Given the description of an element on the screen output the (x, y) to click on. 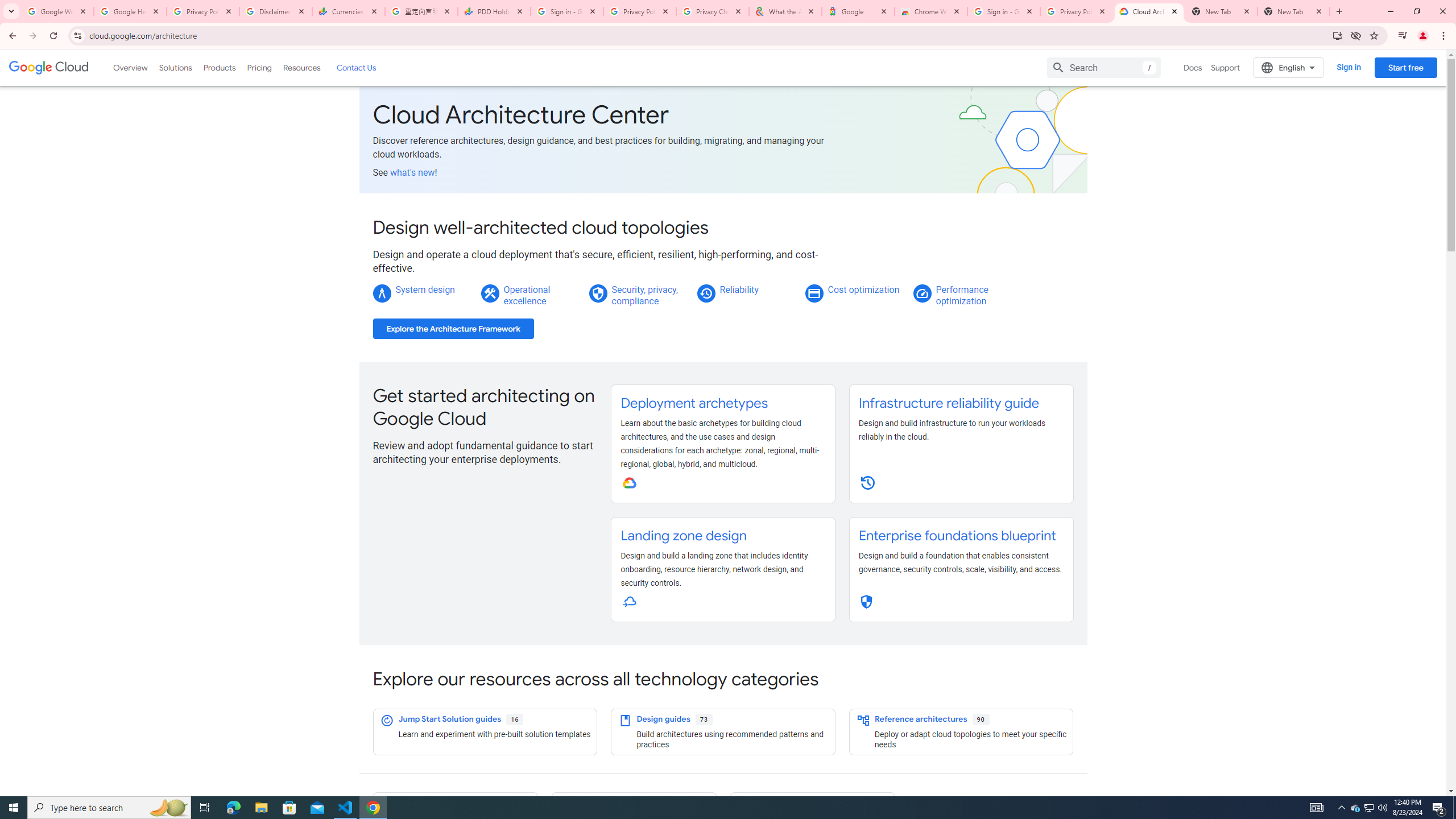
New Tab (1293, 11)
Google Cloud (48, 67)
